Given the description of an element on the screen output the (x, y) to click on. 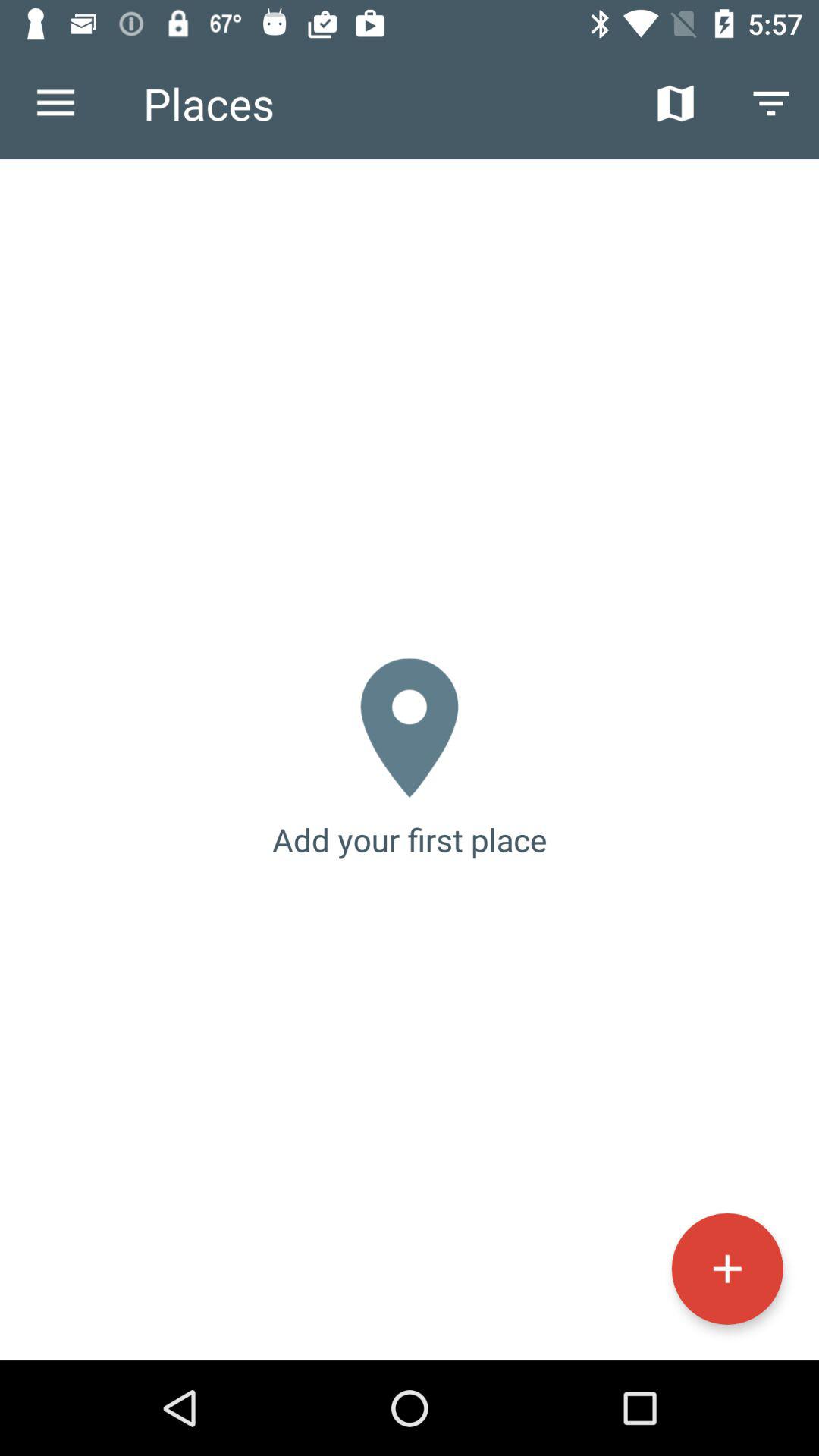
turn off the icon at the bottom right corner (727, 1268)
